Given the description of an element on the screen output the (x, y) to click on. 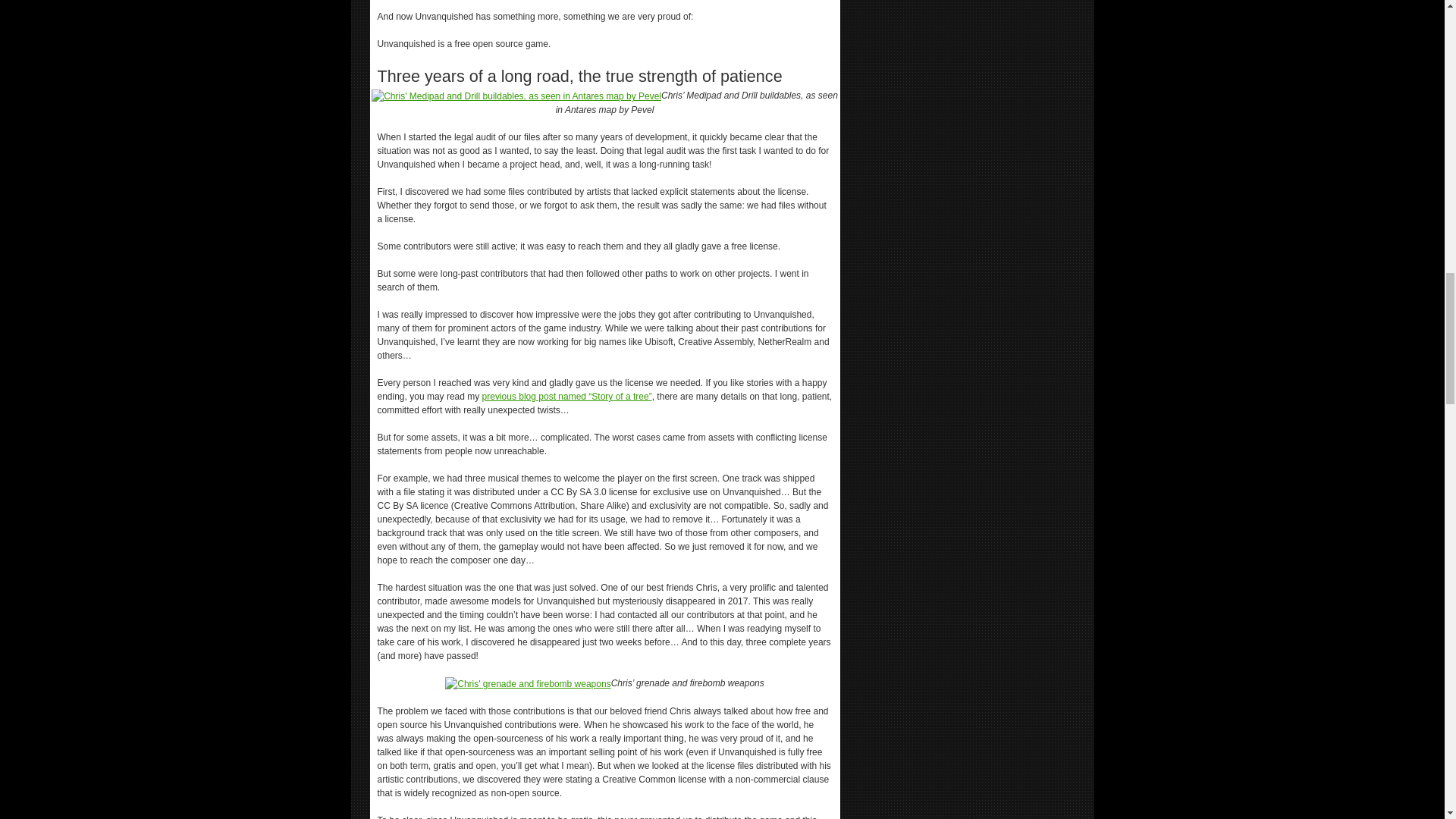
Chris' grenade and firebomb weapons (527, 684)
